Given the description of an element on the screen output the (x, y) to click on. 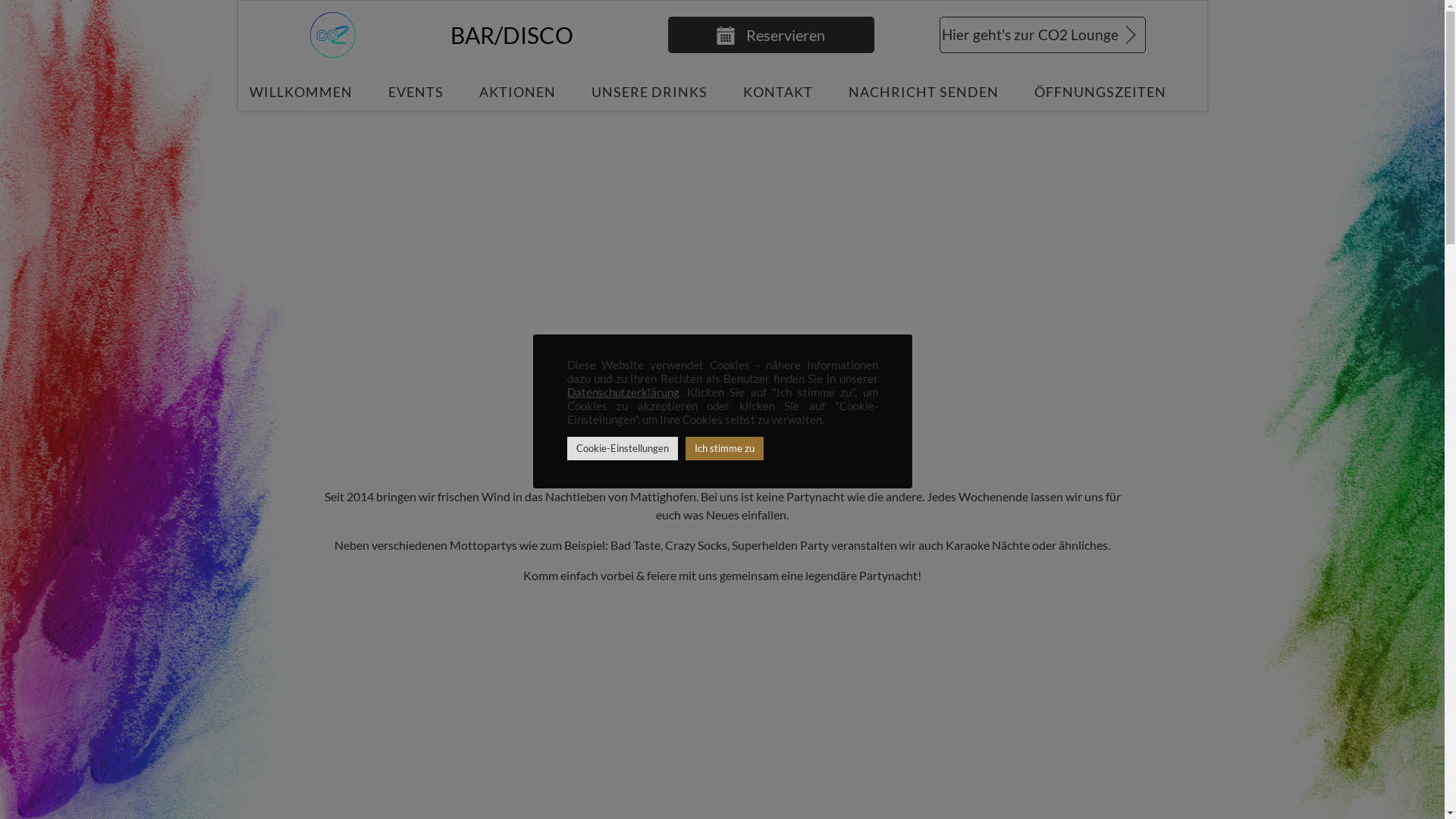
WILLKOMMEN Element type: text (299, 90)
BAR/DISCO Element type: text (511, 35)
KONTAKT Element type: text (777, 90)
UNSERE DRINKS Element type: text (649, 90)
Reservieren Element type: text (770, 34)
AKTIONEN Element type: text (517, 90)
Cookie-Einstellungen Element type: text (622, 448)
NACHRICHT SENDEN Element type: text (922, 90)
Ich stimme zu Element type: text (724, 448)
EVENTS Element type: text (415, 90)
